Given the description of an element on the screen output the (x, y) to click on. 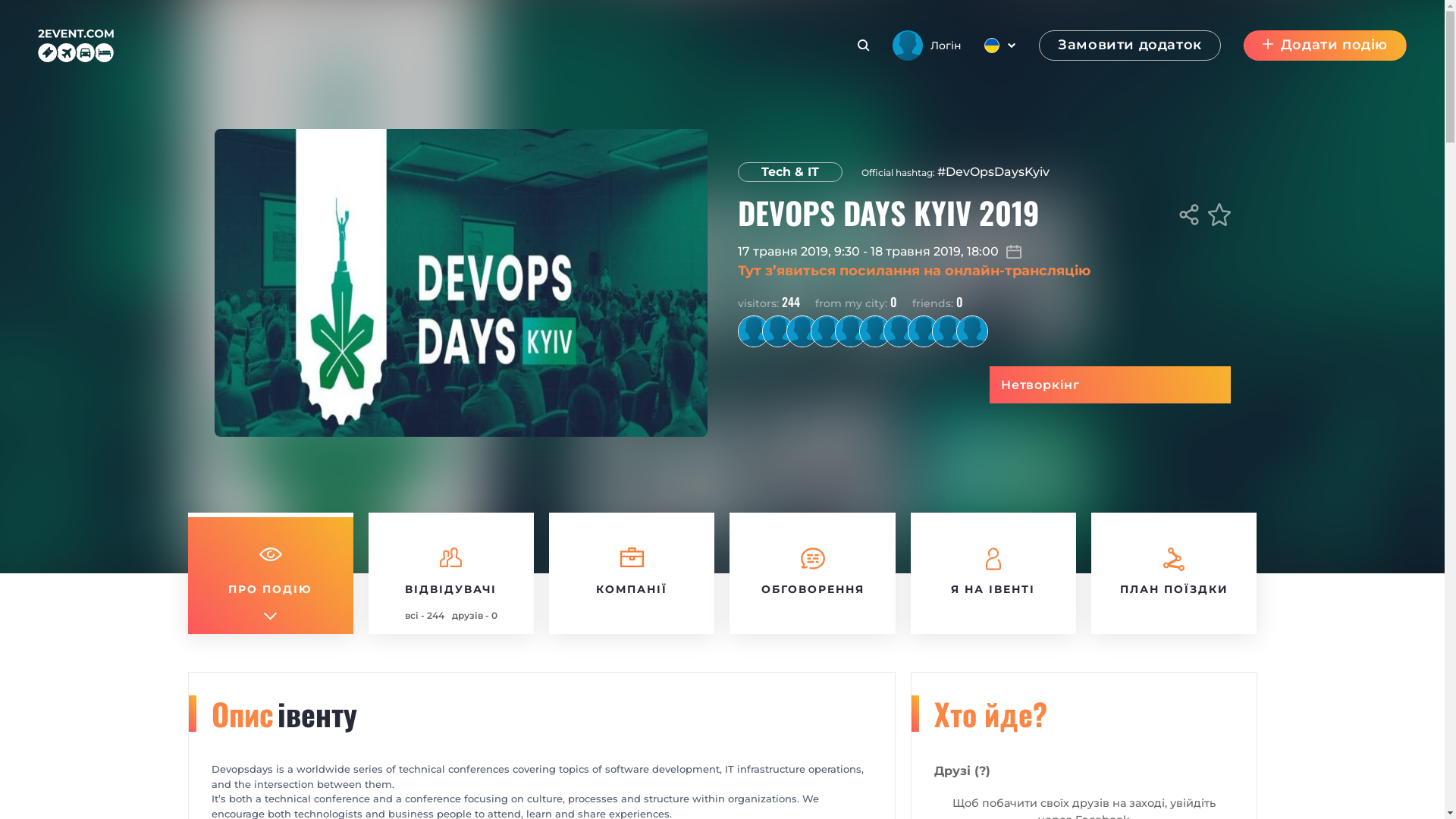
from my city: 0 Element type: text (855, 301)
Tech & IT Element type: text (789, 172)
friends: 0 Element type: text (936, 301)
visitors: 244 Element type: text (768, 301)
